Given the description of an element on the screen output the (x, y) to click on. 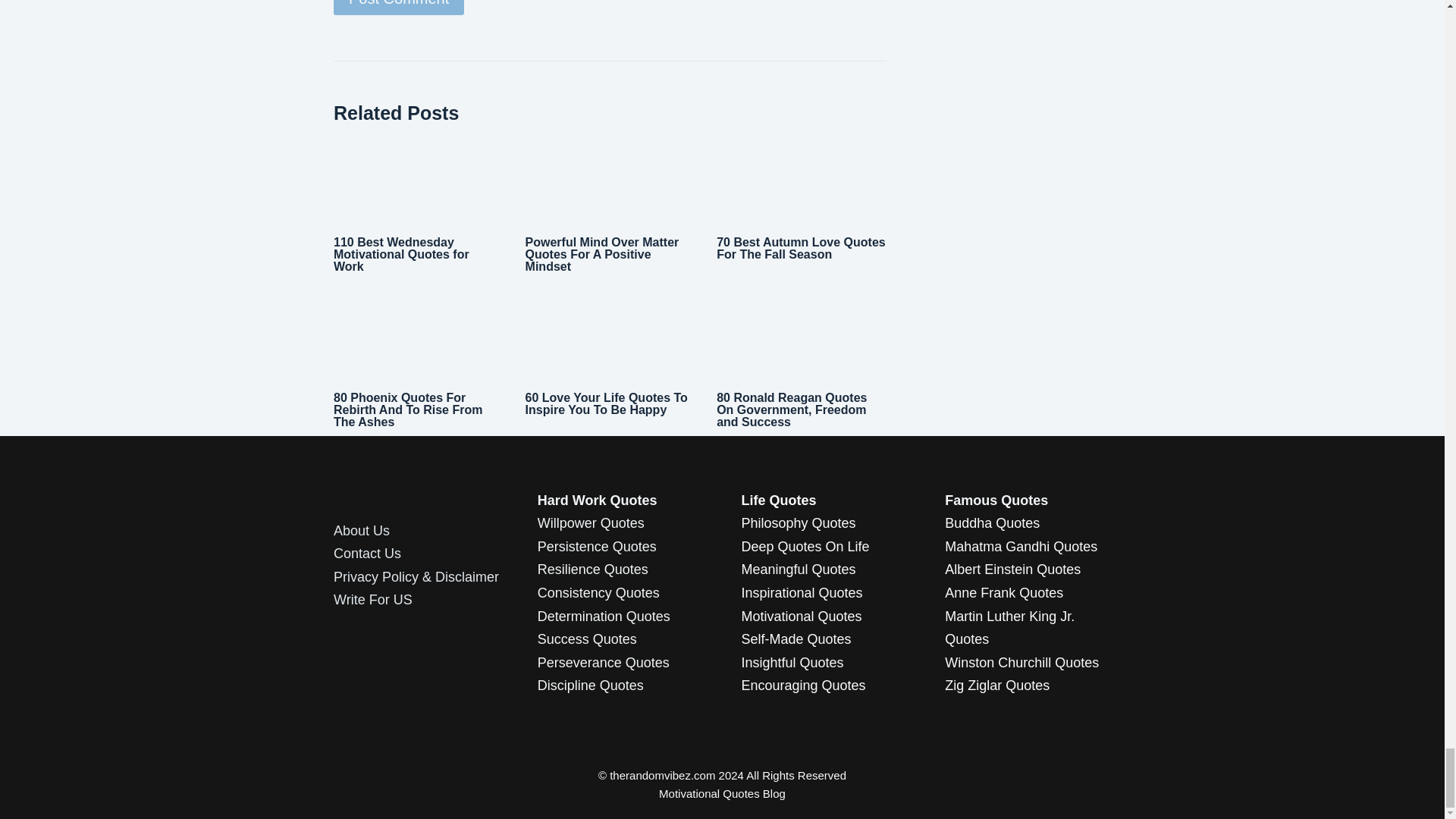
Powerful Mind Over Matter Quotes For A Positive Mindset (602, 253)
110 Best Wednesday Motivational Quotes for Work (400, 253)
Post Comment (398, 7)
Post Comment (398, 7)
